Given the description of an element on the screen output the (x, y) to click on. 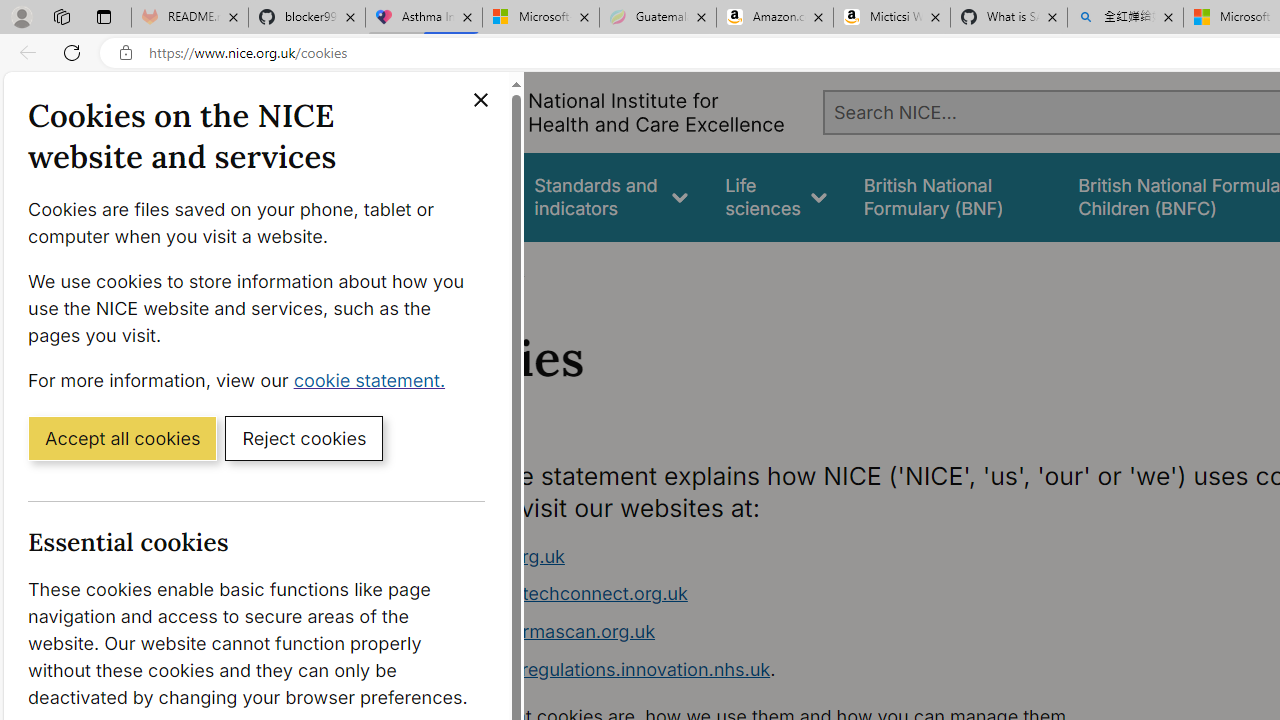
Guidance (458, 196)
Close cookie banner (480, 99)
www.ukpharmascan.org.uk (796, 632)
www.ukpharmascan.org.uk (538, 631)
Life sciences (776, 196)
